Given the description of an element on the screen output the (x, y) to click on. 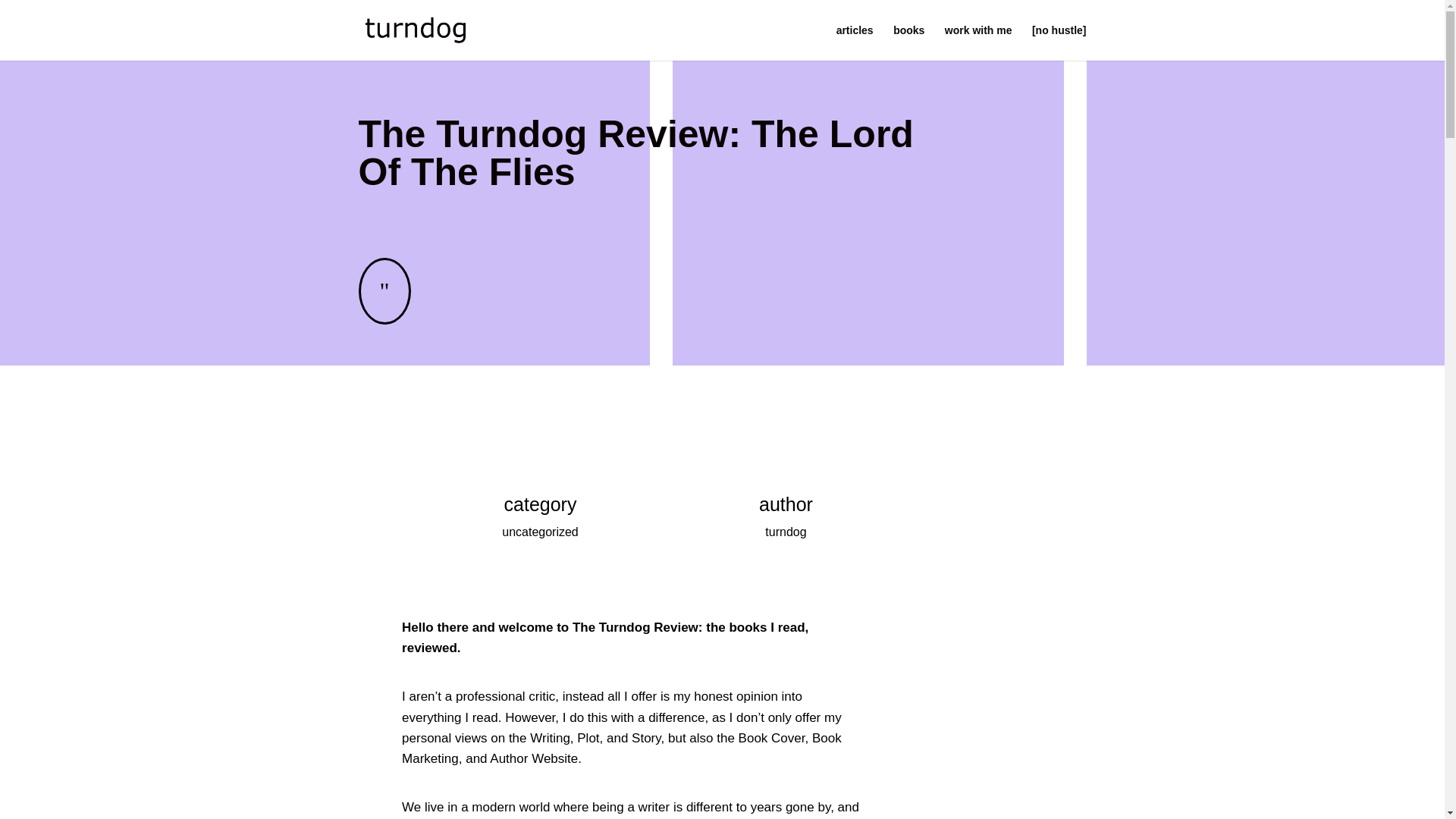
articles (854, 42)
uncategorized (540, 531)
work with me (977, 42)
